Given the description of an element on the screen output the (x, y) to click on. 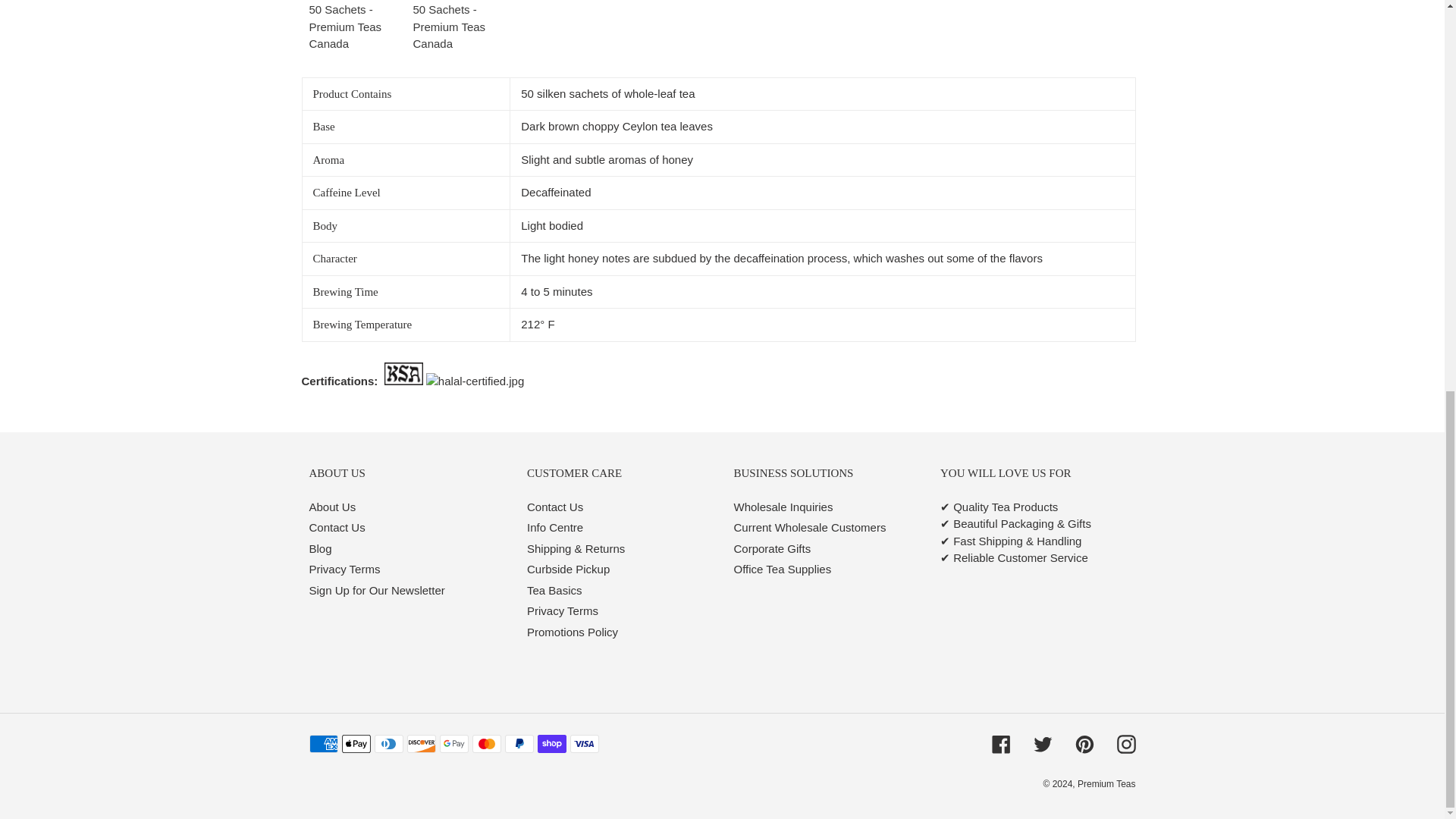
halal-certified.jpg (475, 381)
